Given the description of an element on the screen output the (x, y) to click on. 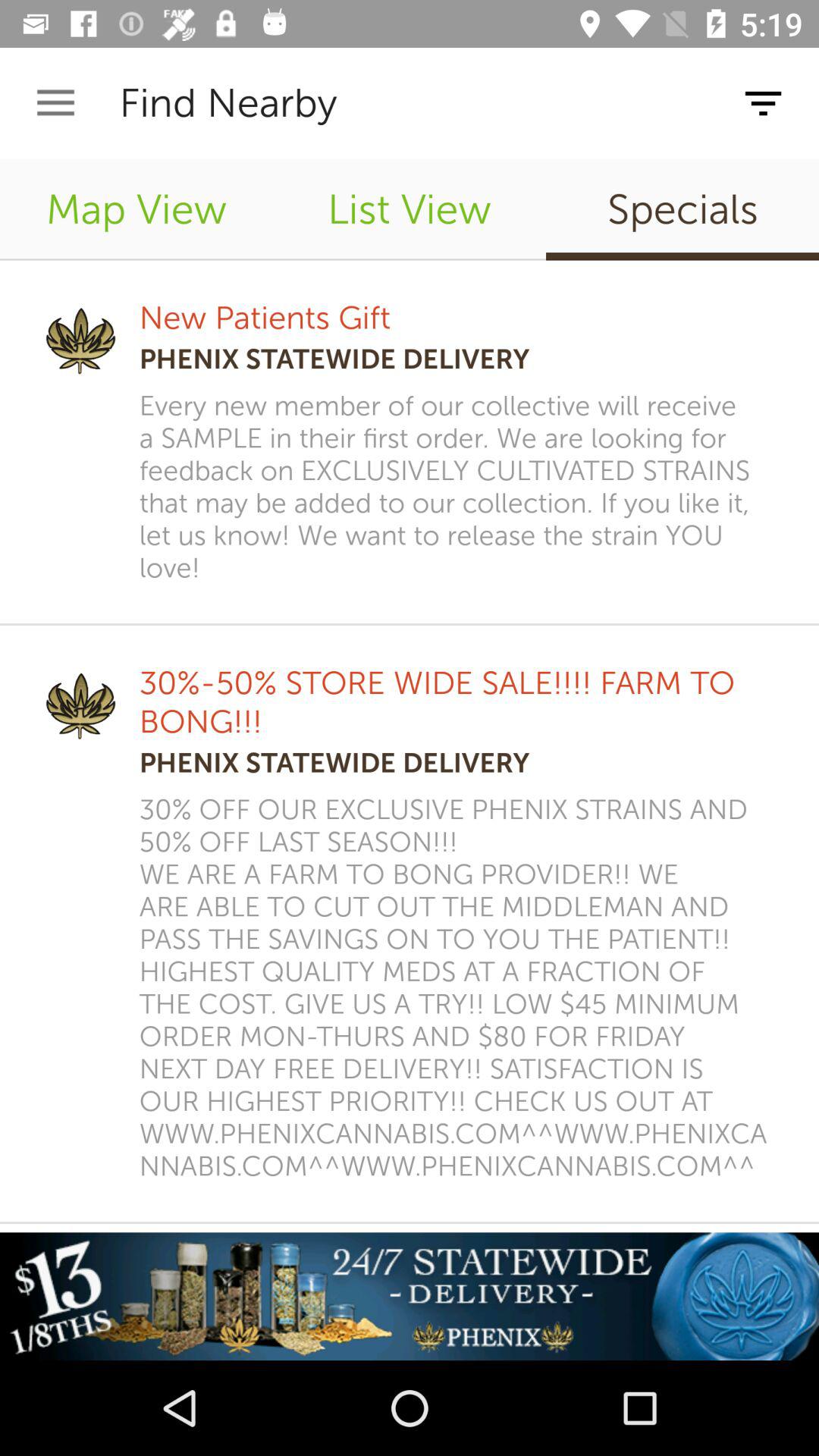
press icon below the phenix statewide delivery icon (459, 987)
